Given the description of an element on the screen output the (x, y) to click on. 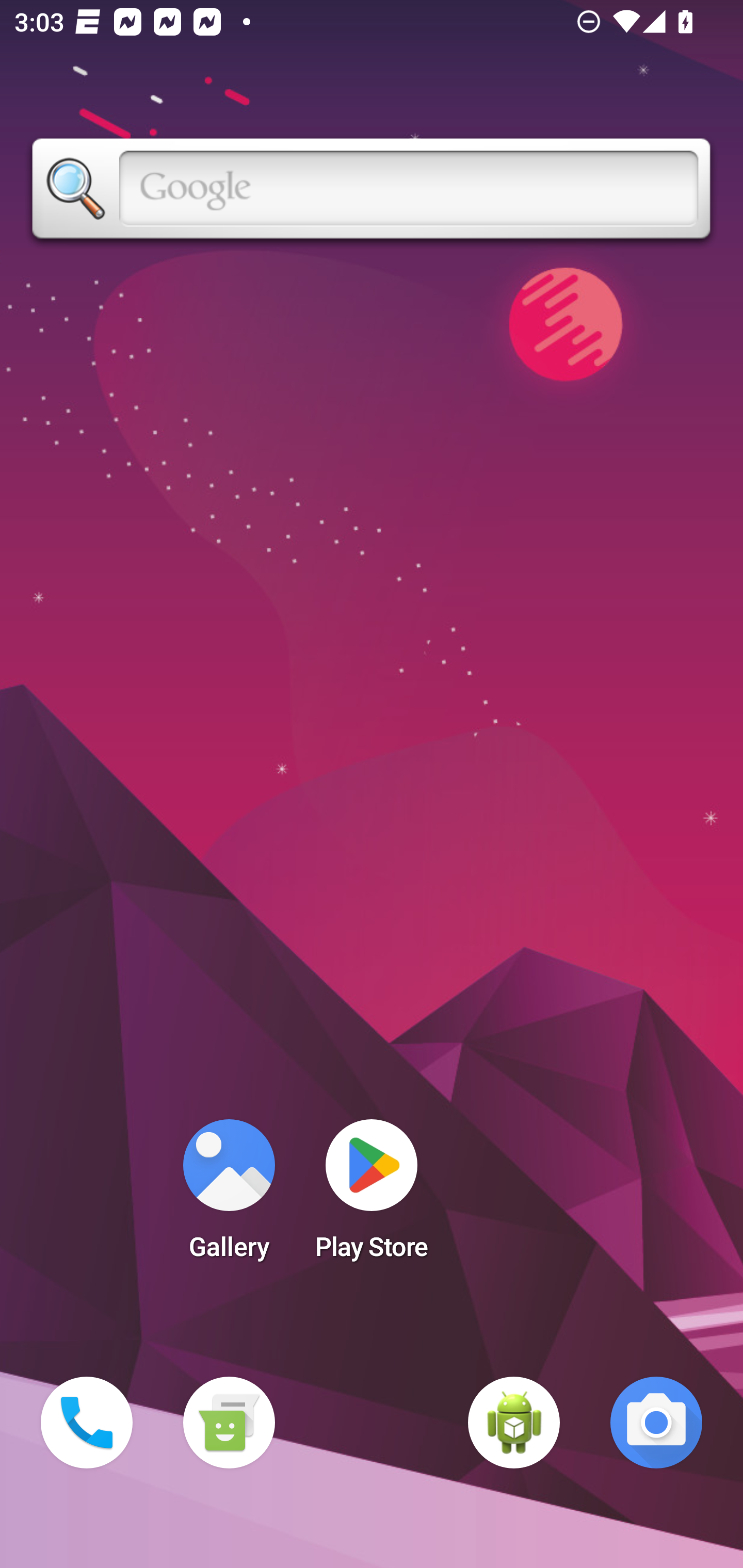
Gallery (228, 1195)
Play Store (371, 1195)
Phone (86, 1422)
Messaging (228, 1422)
WebView Browser Tester (513, 1422)
Camera (656, 1422)
